Given the description of an element on the screen output the (x, y) to click on. 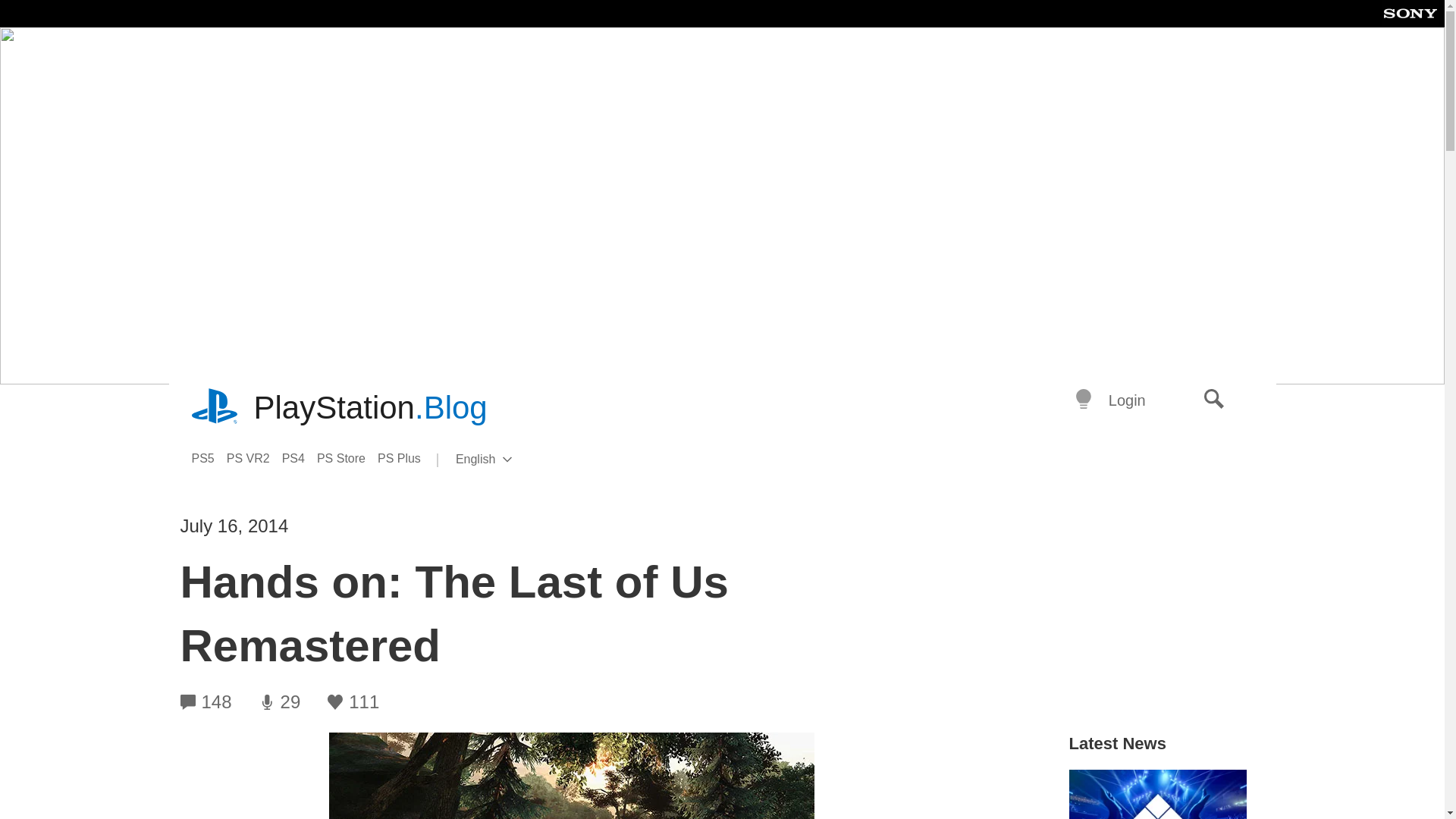
Search (1214, 400)
Login (508, 459)
PS4 (1126, 400)
PS5 (299, 458)
PS VR2 (207, 458)
playstation.com (254, 458)
PlayStation.Blog (215, 408)
PS Plus (369, 407)
PS Store (404, 458)
